Given the description of an element on the screen output the (x, y) to click on. 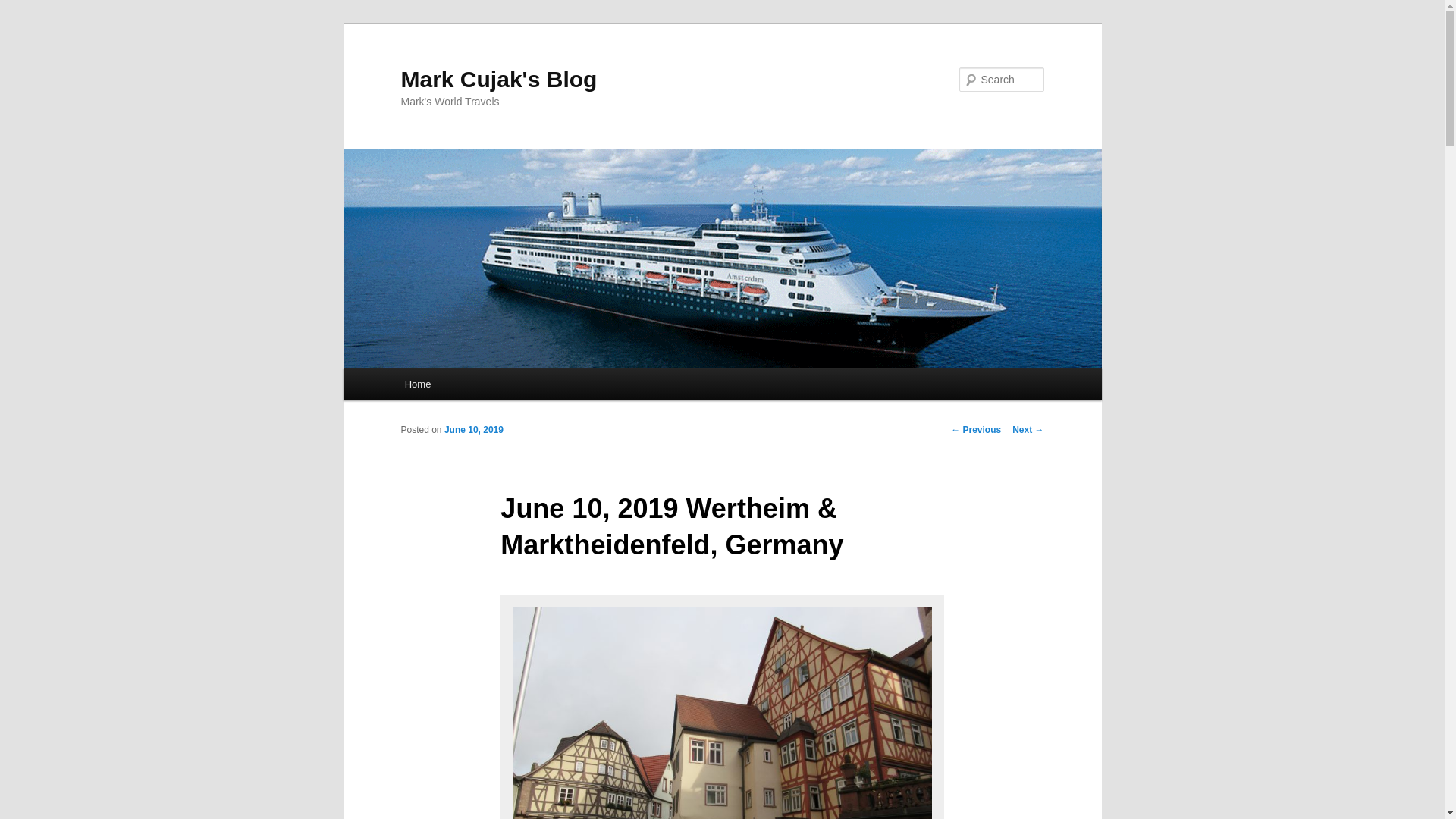
Mark Cujak's Blog (498, 78)
8:50 pm (473, 429)
Search (24, 8)
June 10, 2019 (473, 429)
Home (417, 383)
